Given the description of an element on the screen output the (x, y) to click on. 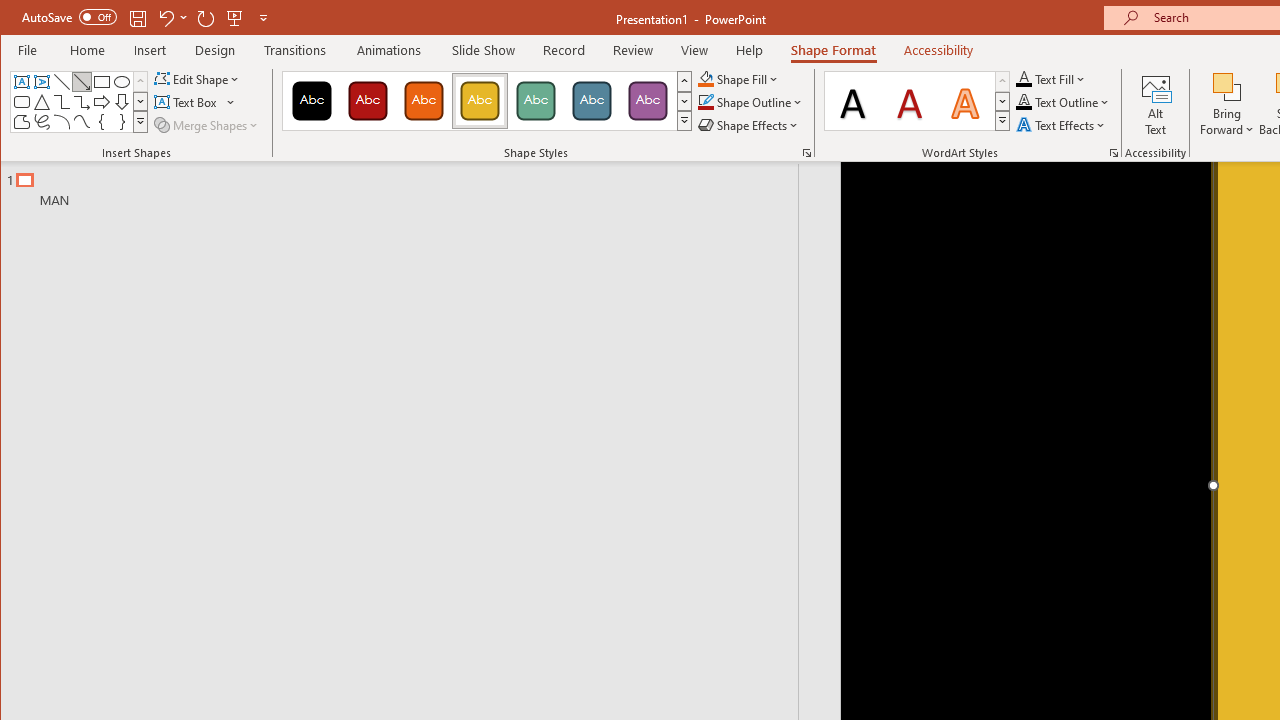
Text Outline RGB(0, 0, 0) (1023, 101)
Vertical Text Box (42, 82)
Colored Fill - Dark Red, Accent 1 (367, 100)
Shape Effects (750, 124)
Draw Horizontal Text Box (187, 101)
Freeform: Scribble (42, 121)
Oval (121, 82)
Text Effects (1062, 124)
Outline (408, 185)
Curve (81, 121)
Colored Fill - Black, Dark 1 (312, 100)
